Given the description of an element on the screen output the (x, y) to click on. 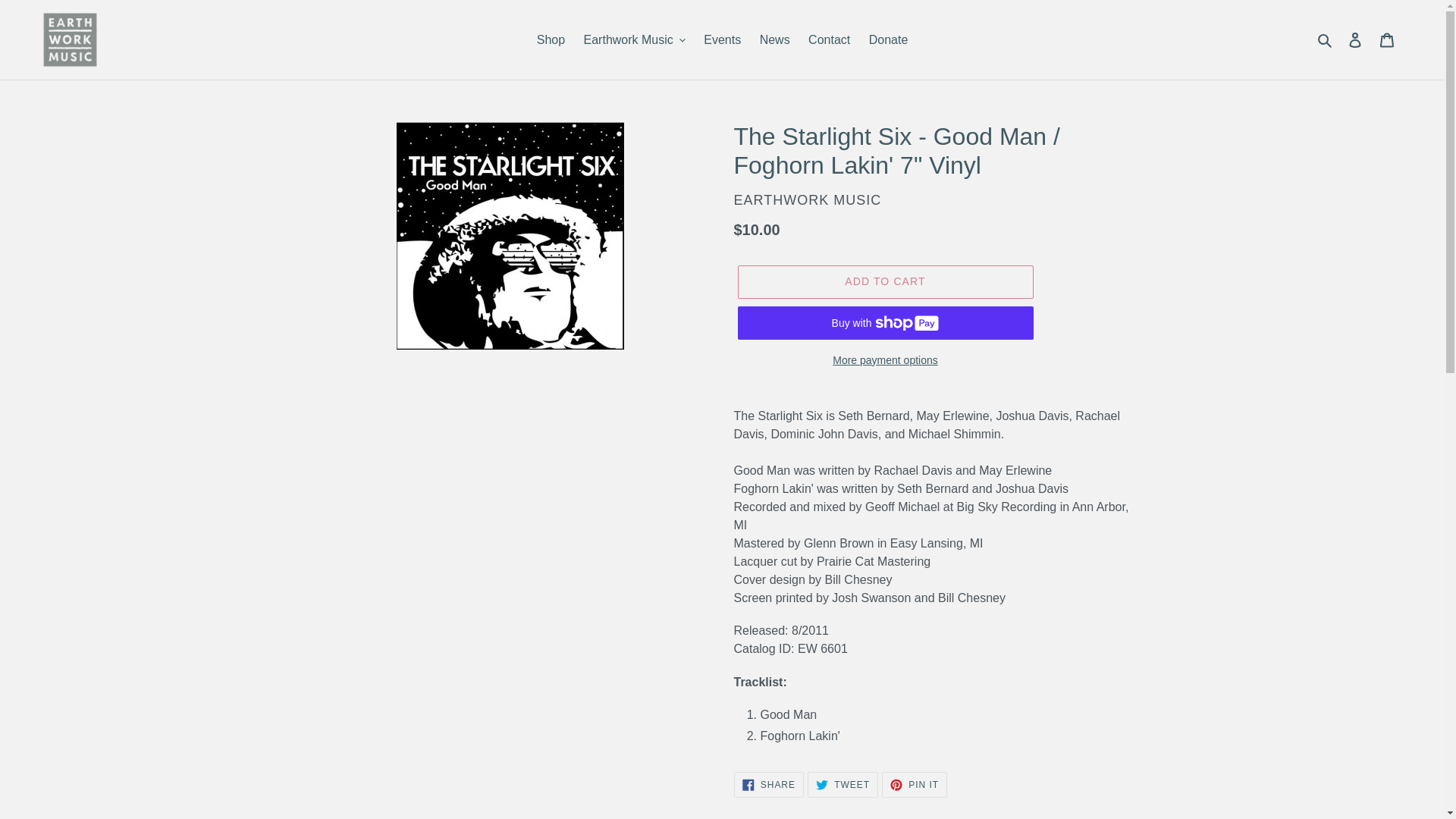
ADD TO CART (884, 281)
Earthwork Music (634, 39)
Log in (1355, 39)
Shop (550, 39)
More payment options (884, 360)
Contact (828, 39)
Search (1326, 39)
News (774, 39)
Donate (888, 39)
Events (721, 39)
Cart (1387, 39)
